Given the description of an element on the screen output the (x, y) to click on. 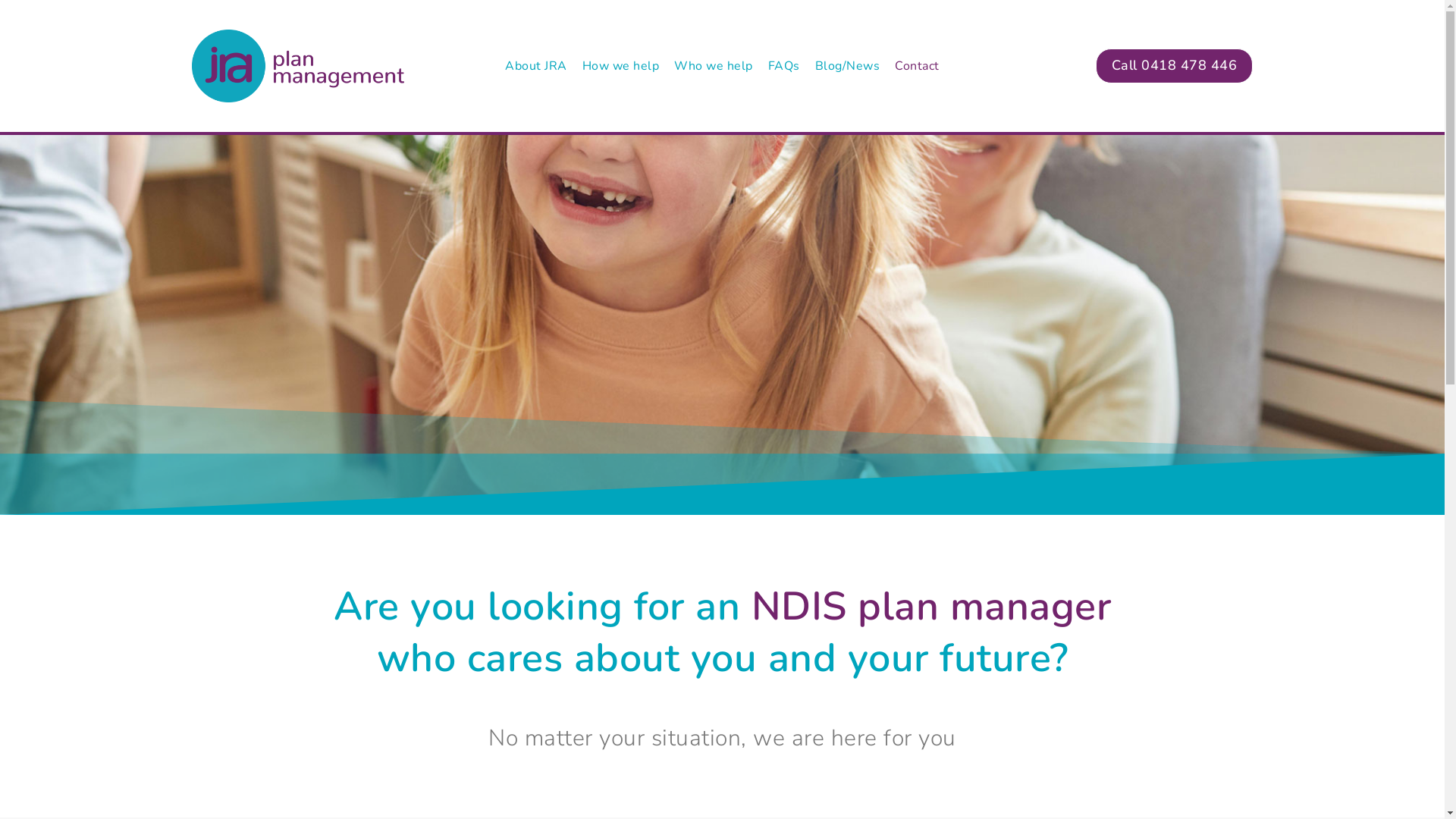
Call 0418 478 446 Element type: text (1174, 65)
How we help Element type: text (620, 66)
Contact Element type: text (917, 66)
Blog/News Element type: text (847, 66)
Who we help Element type: text (713, 66)
About JRA Element type: text (535, 66)
FAQs Element type: text (783, 66)
